Given the description of an element on the screen output the (x, y) to click on. 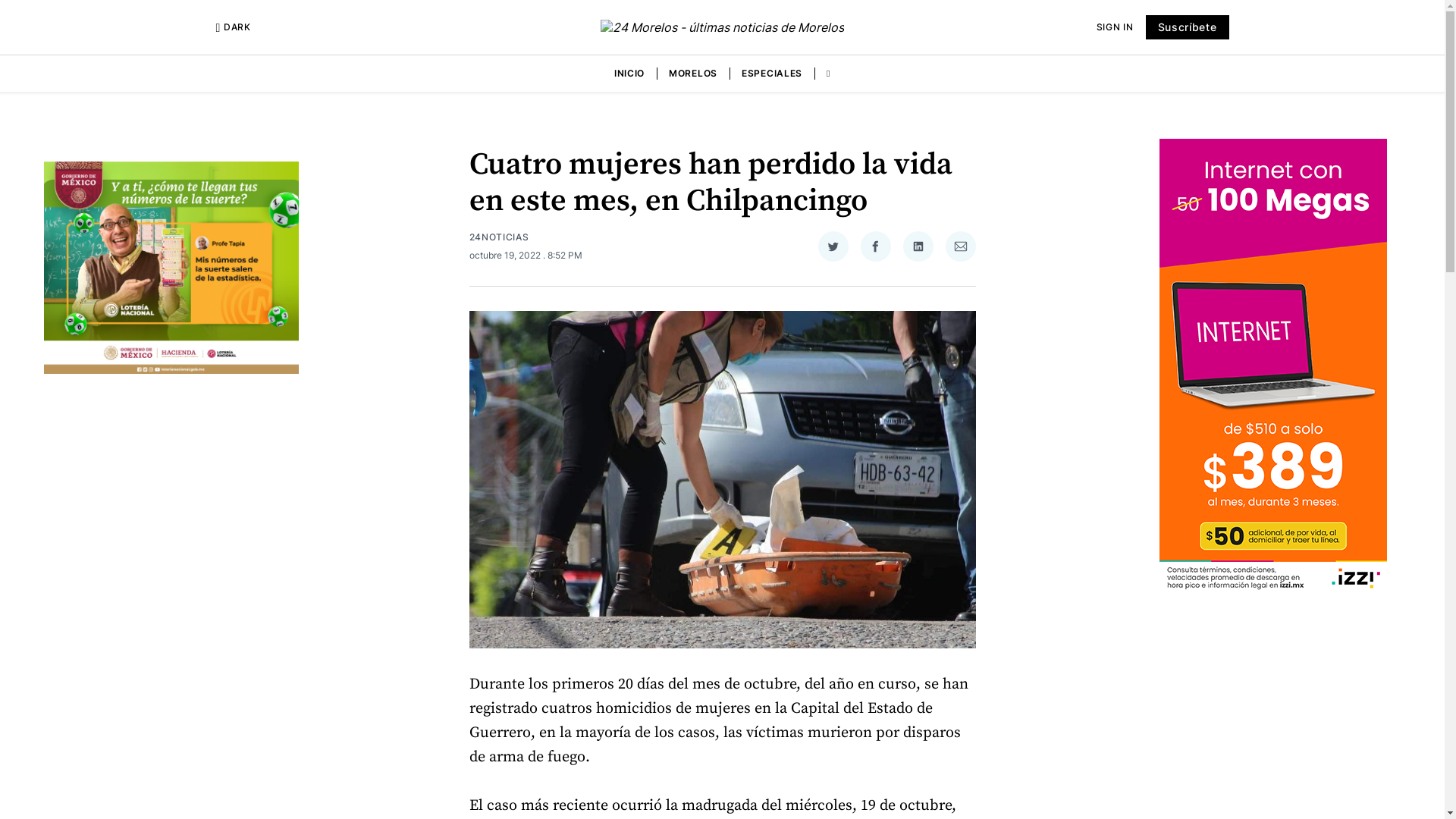
MORELOS Element type: text (692, 73)
DARK Element type: text (232, 26)
SIGN IN Element type: text (1114, 27)
24NOTICIAS Element type: text (498, 237)
Compartir en Facebook Element type: text (874, 246)
INICIO Element type: text (629, 73)
ESPECIALES Element type: text (771, 73)
Compartir en LinkedIn Element type: text (917, 246)
Compartir en Twitter Element type: text (832, 246)
Compartir via Email Element type: text (959, 246)
